Given the description of an element on the screen output the (x, y) to click on. 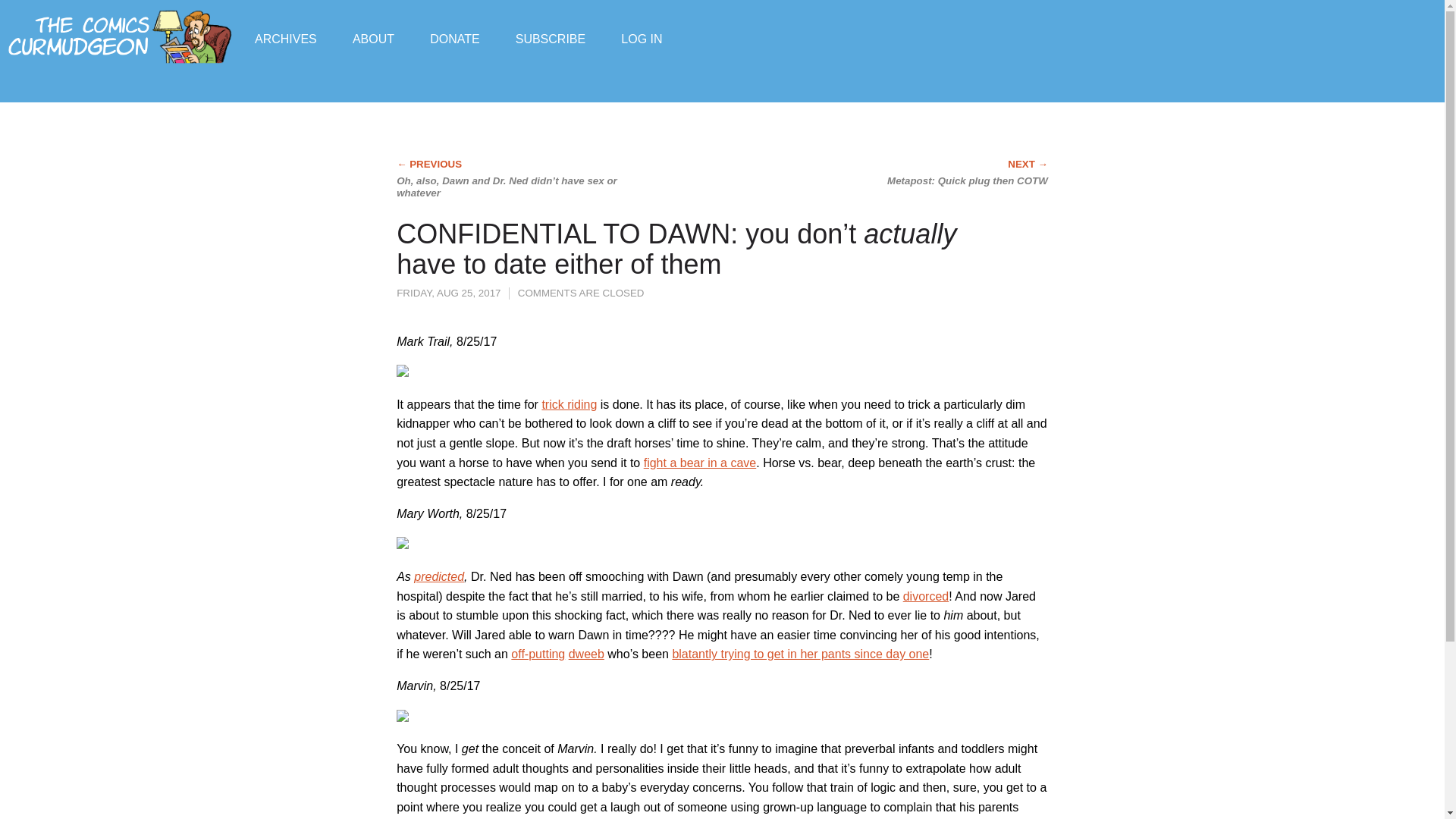
fight a bear in a cave (700, 462)
LOG IN (641, 38)
DONATE (454, 38)
SUBSCRIBE (550, 38)
dweeb (586, 653)
predicted (438, 576)
ARCHIVES (285, 38)
blatantly trying to get in her pants since day one (799, 653)
trick riding (568, 404)
Metapost: Quick plug then COTW (921, 172)
